Given the description of an element on the screen output the (x, y) to click on. 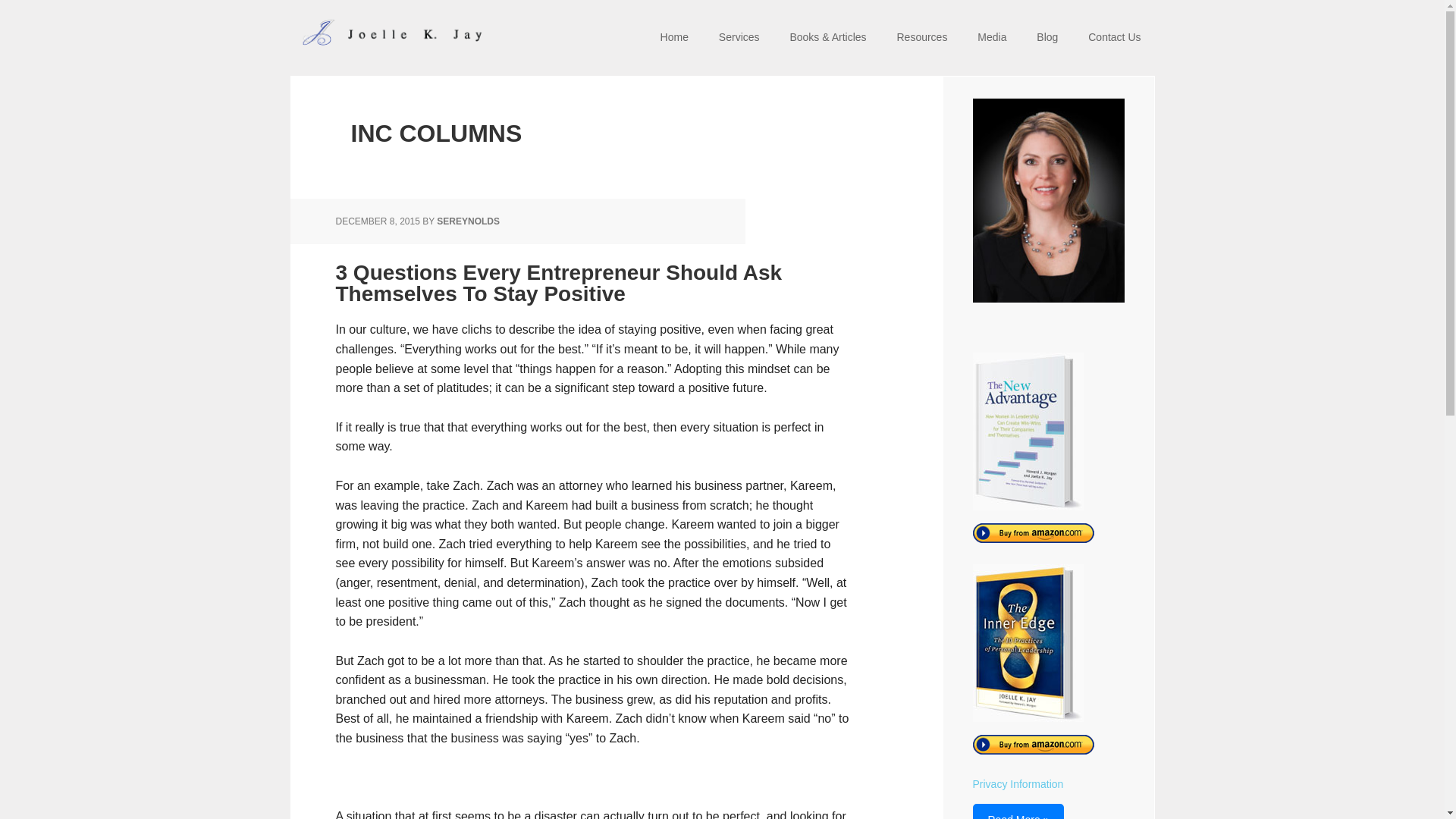
Privacy Information (1017, 784)
Joelle K. Jay (387, 38)
Contact Us (1114, 38)
Resources (921, 38)
SEREYNOLDS (467, 221)
Privacy Information (1017, 784)
The Inner Edge: The 10 Practices of Personal Leadership (1018, 811)
Services (738, 38)
